Given the description of an element on the screen output the (x, y) to click on. 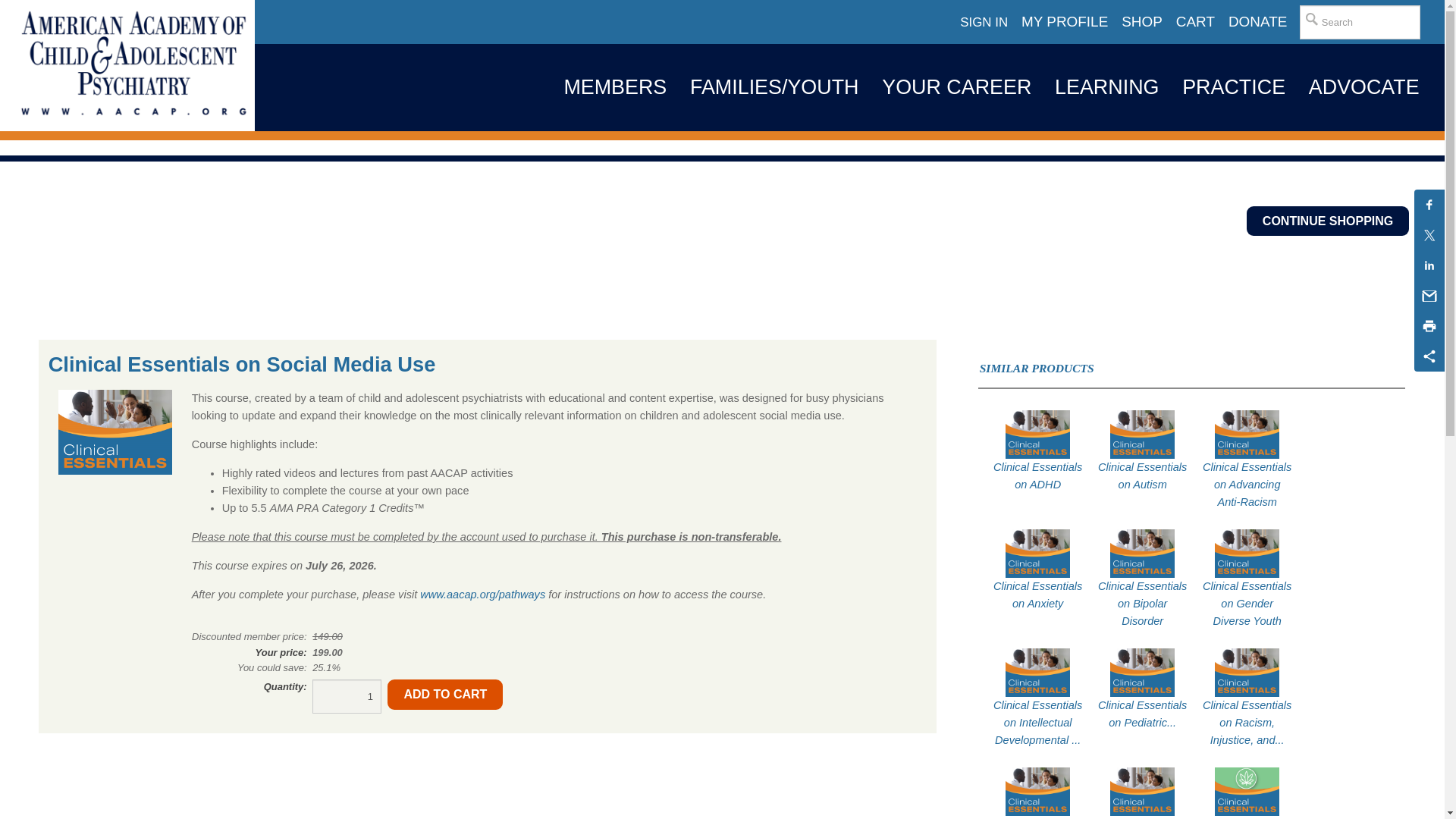
Clinical Essentials on Trauma-Focused CBT in Pediatric PTSD (1142, 817)
Clinical Essentials on Autism (1142, 476)
Clinical Essentials on Advancing Anti-Racism (1247, 484)
Add to Cart (444, 694)
CART (1195, 21)
1 (347, 696)
Clinical Essentials on Pediatric Psychopharmacology (1142, 714)
SHOP (1142, 21)
Clinical Essentials on Cannabis Use Disorder (1247, 817)
Clinical Essentials on Racism, Injustice, and Inequities (1247, 723)
Continue Shopping (1327, 221)
MEMBERS (614, 87)
Continue Shopping (1327, 221)
Clinical Essentials on Threat Assessment (1037, 817)
SIGN IN (983, 22)
